Given the description of an element on the screen output the (x, y) to click on. 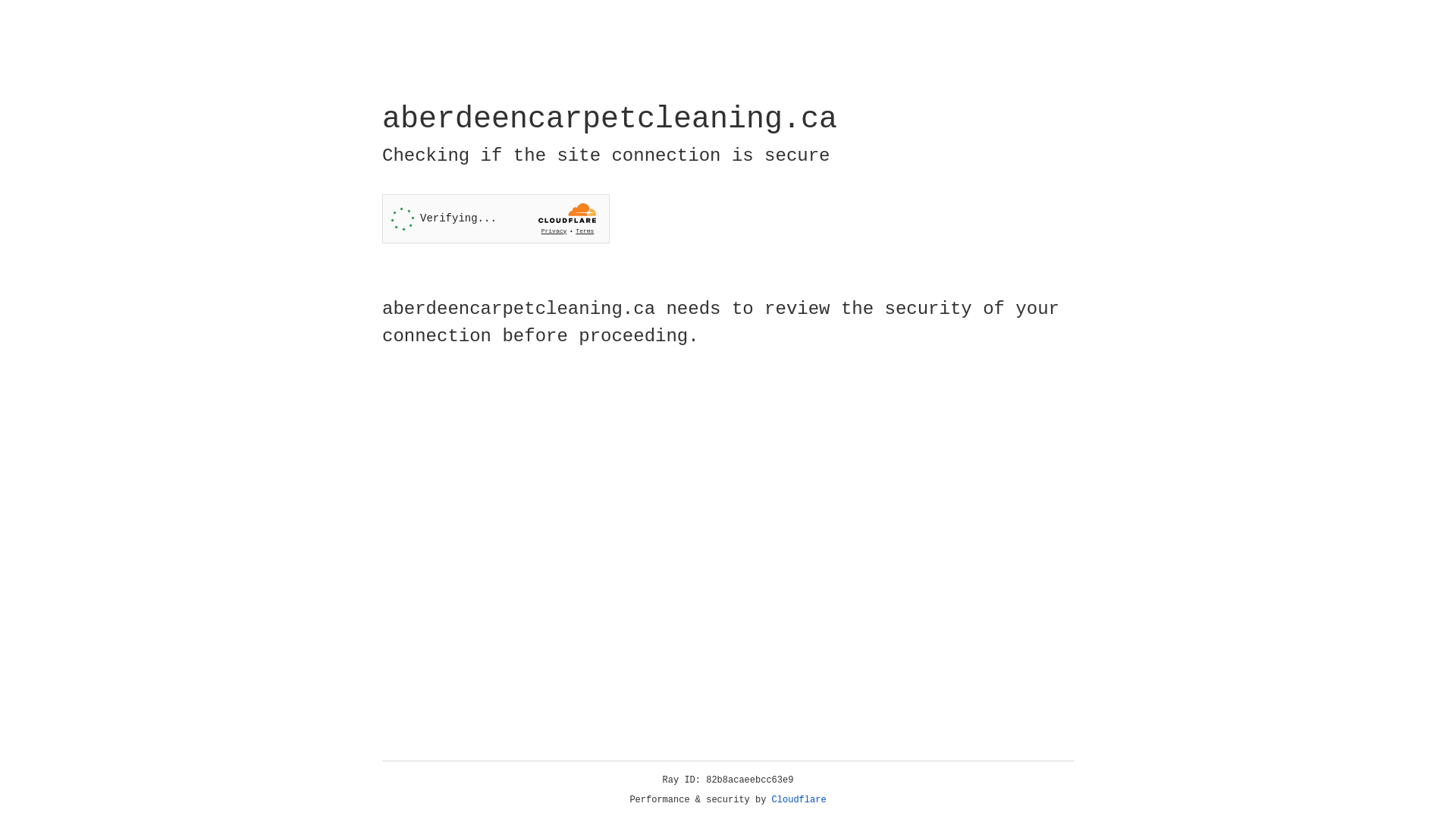
Widget containing a Cloudflare security challenge Element type: hover (495, 218)
Cloudflare Element type: text (798, 799)
